Given the description of an element on the screen output the (x, y) to click on. 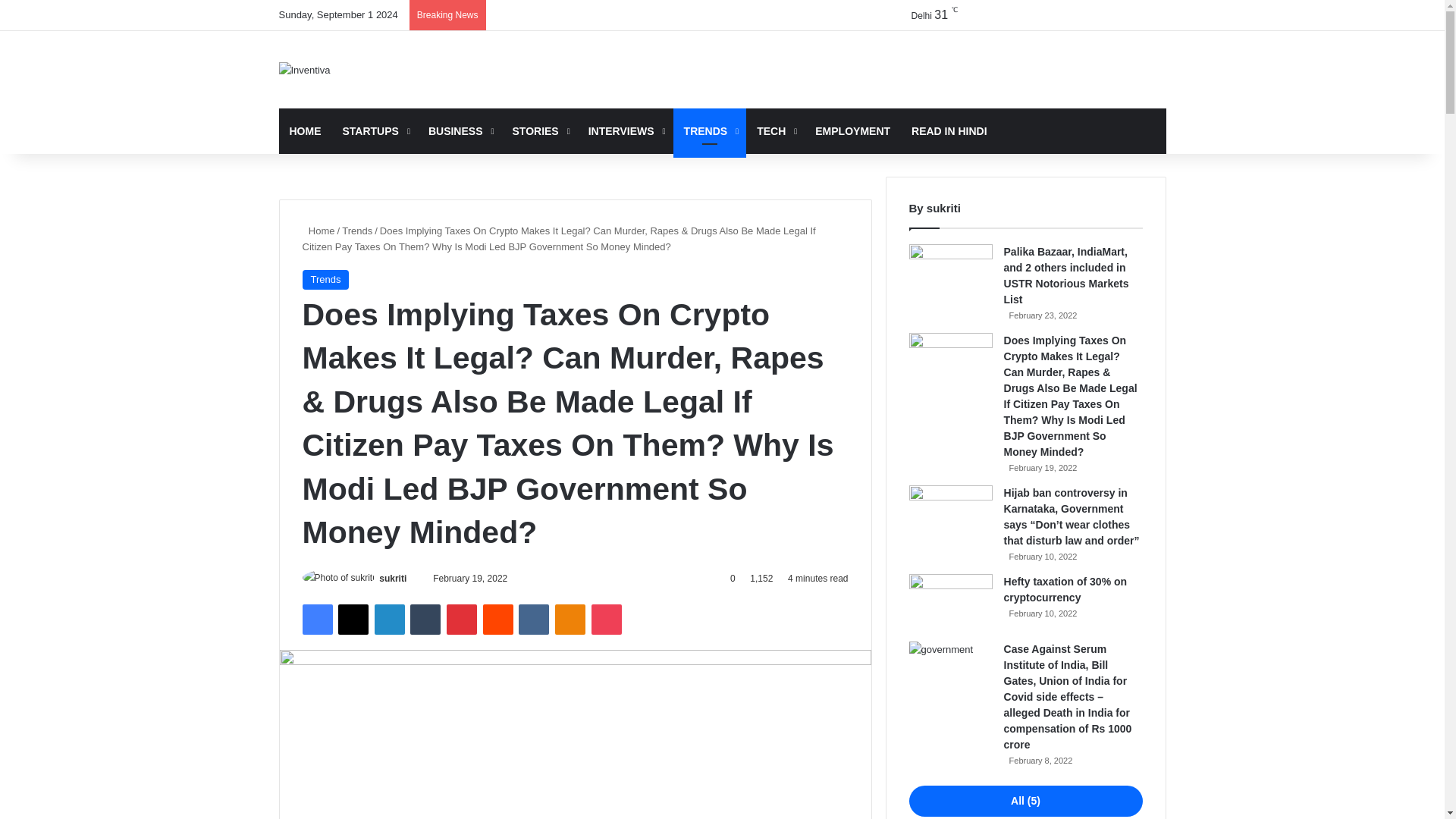
BUSINESS (459, 130)
Odnoklassniki (569, 619)
Pinterest (461, 619)
Facebook (316, 619)
VKontakte (533, 619)
Inventiva (304, 69)
Pocket (606, 619)
STARTUPS (374, 130)
LinkedIn (389, 619)
HOME (305, 130)
